Given the description of an element on the screen output the (x, y) to click on. 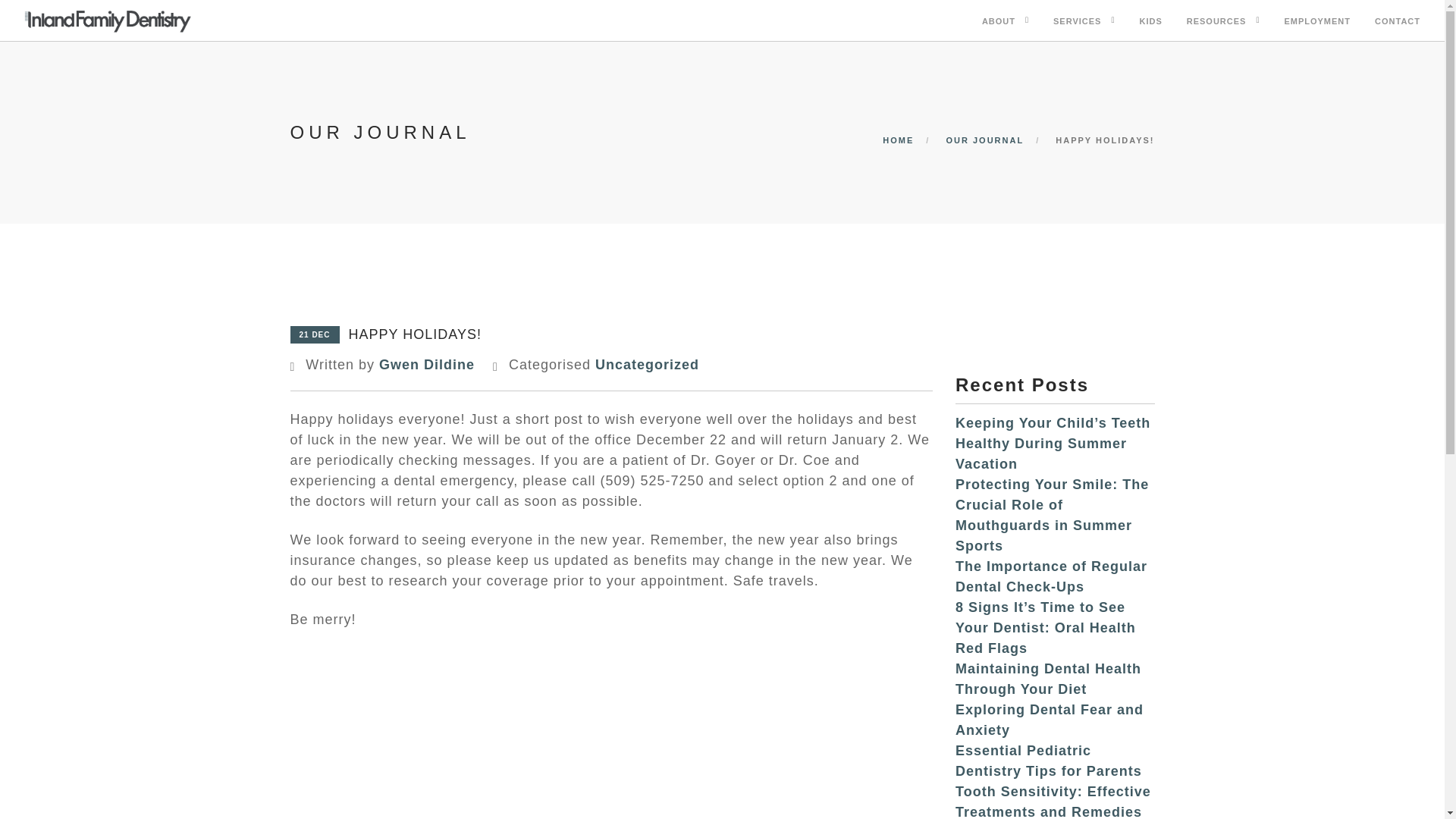
EMPLOYMENT (1317, 22)
OUR JOURNAL (983, 139)
The Importance of Regular Dental Check-Ups (1051, 576)
Gwen Dildine (426, 364)
Tooth Sensitivity: Effective Treatments and Remedies (1053, 801)
Essential Pediatric Dentistry Tips for Parents (1048, 760)
Maintaining Dental Health Through Your Diet (1048, 678)
RESOURCES (1216, 22)
Posts by Gwen Dildine (426, 364)
HOME (898, 139)
21 DECHAPPY HOLIDAYS! (384, 332)
SERVICES (1076, 22)
CONTACT (1397, 22)
Uncategorized (646, 364)
Exploring Dental Fear and Anxiety (1048, 719)
